Given the description of an element on the screen output the (x, y) to click on. 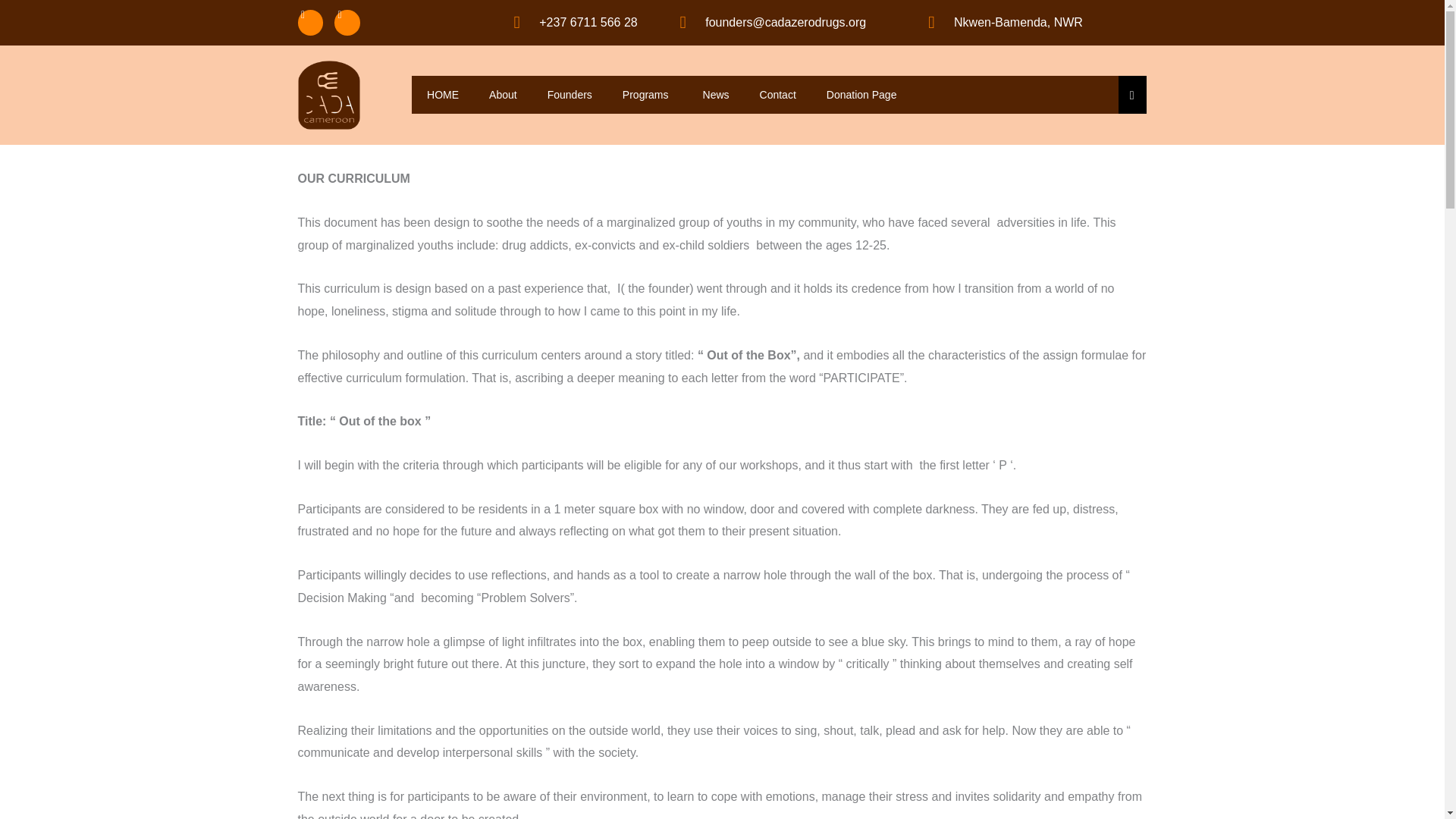
News (715, 94)
Contact (777, 94)
About (503, 94)
Donation Page (861, 94)
Linkedin (346, 22)
Founders (569, 94)
Programs (647, 94)
HOME (443, 94)
Facebook (310, 22)
